Given the description of an element on the screen output the (x, y) to click on. 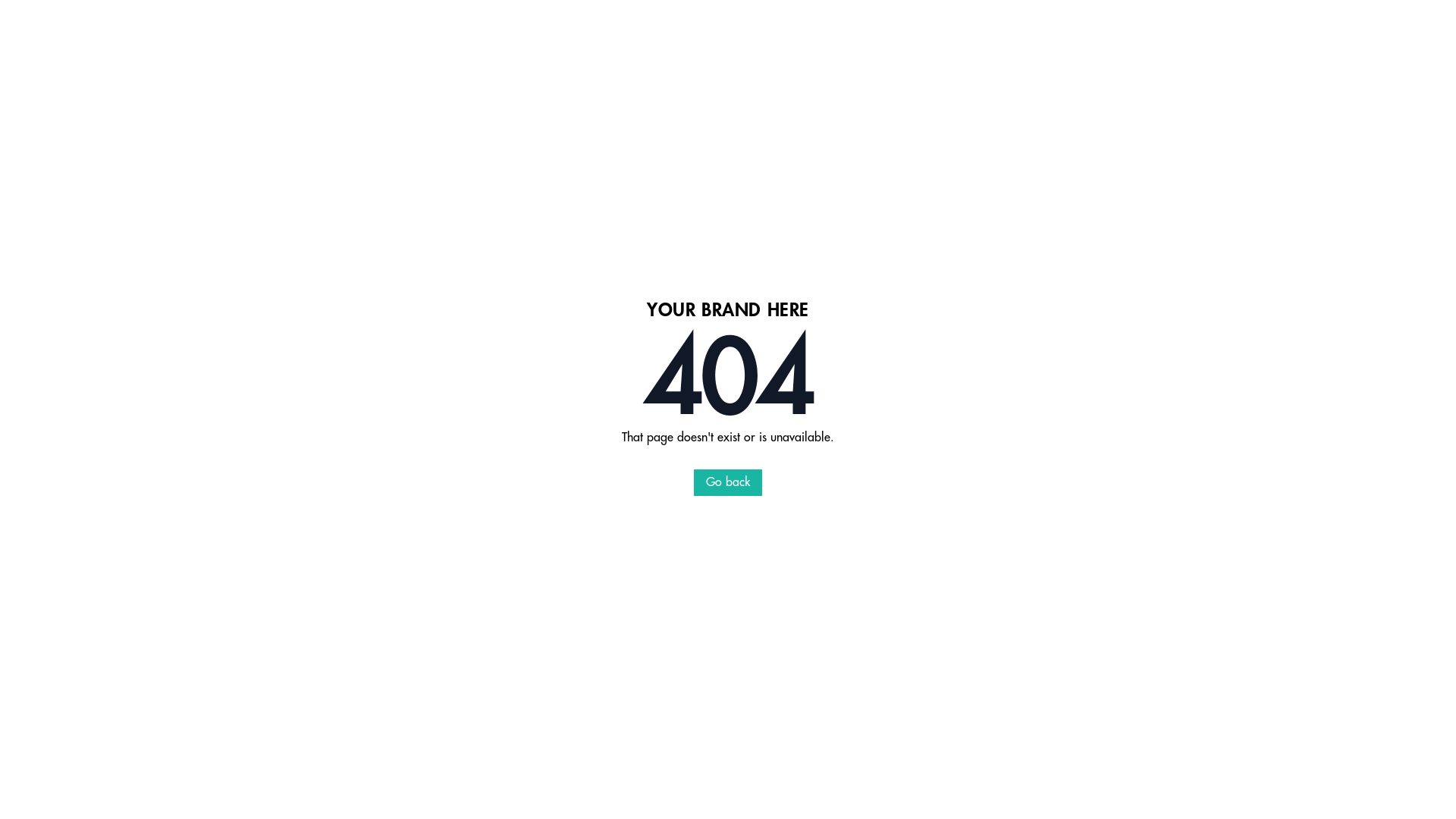
Go back Element type: text (727, 482)
